Given the description of an element on the screen output the (x, y) to click on. 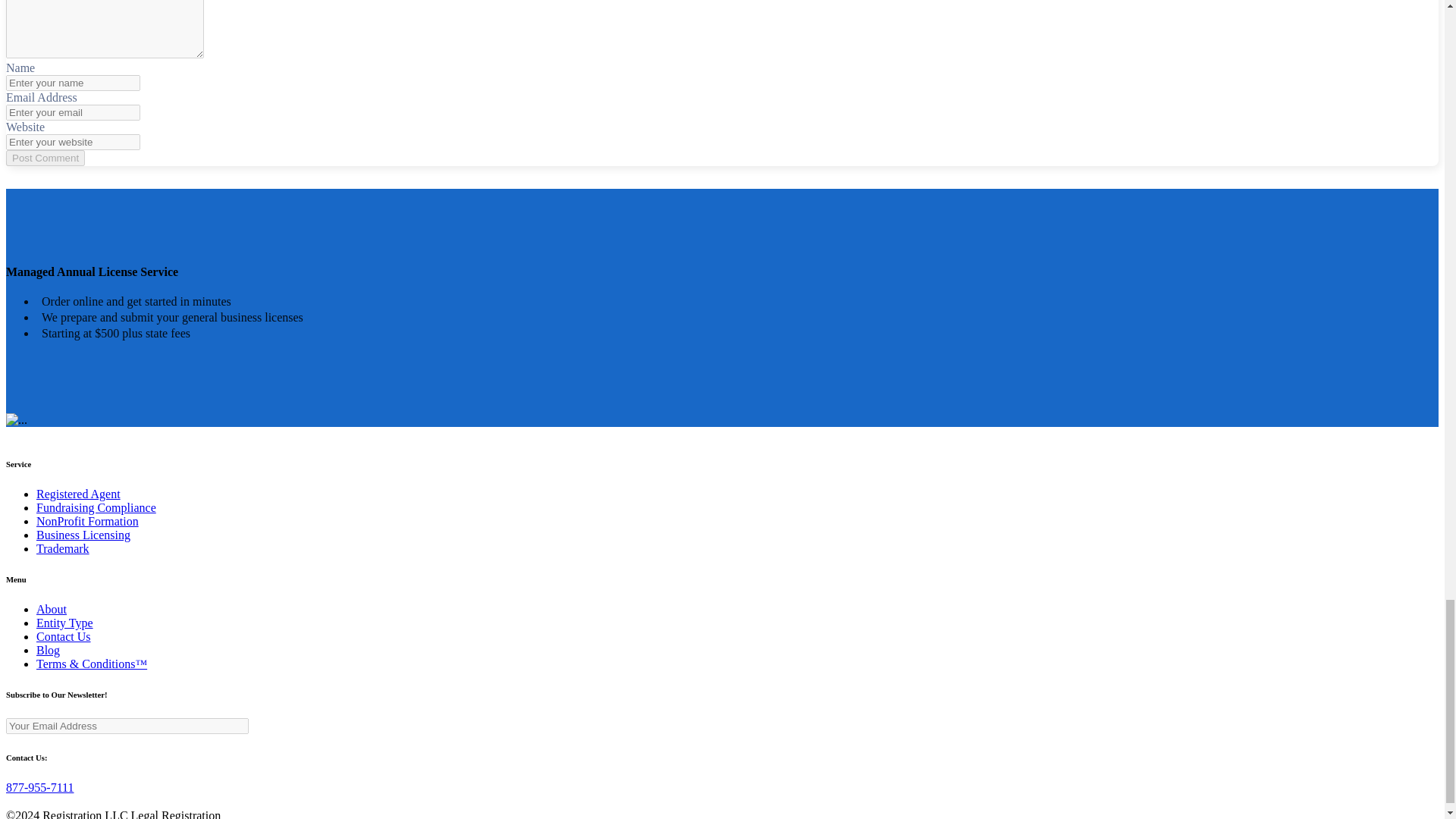
Blog (47, 649)
877-955-7111 (39, 787)
Registered Agent (78, 493)
Post Comment (44, 157)
Fundraising Compliance (95, 507)
NonProfit Formation (87, 521)
Contact Us (63, 635)
Trademark (62, 548)
Business Licensing (83, 534)
About (51, 608)
Entity Type (64, 622)
